Given the description of an element on the screen output the (x, y) to click on. 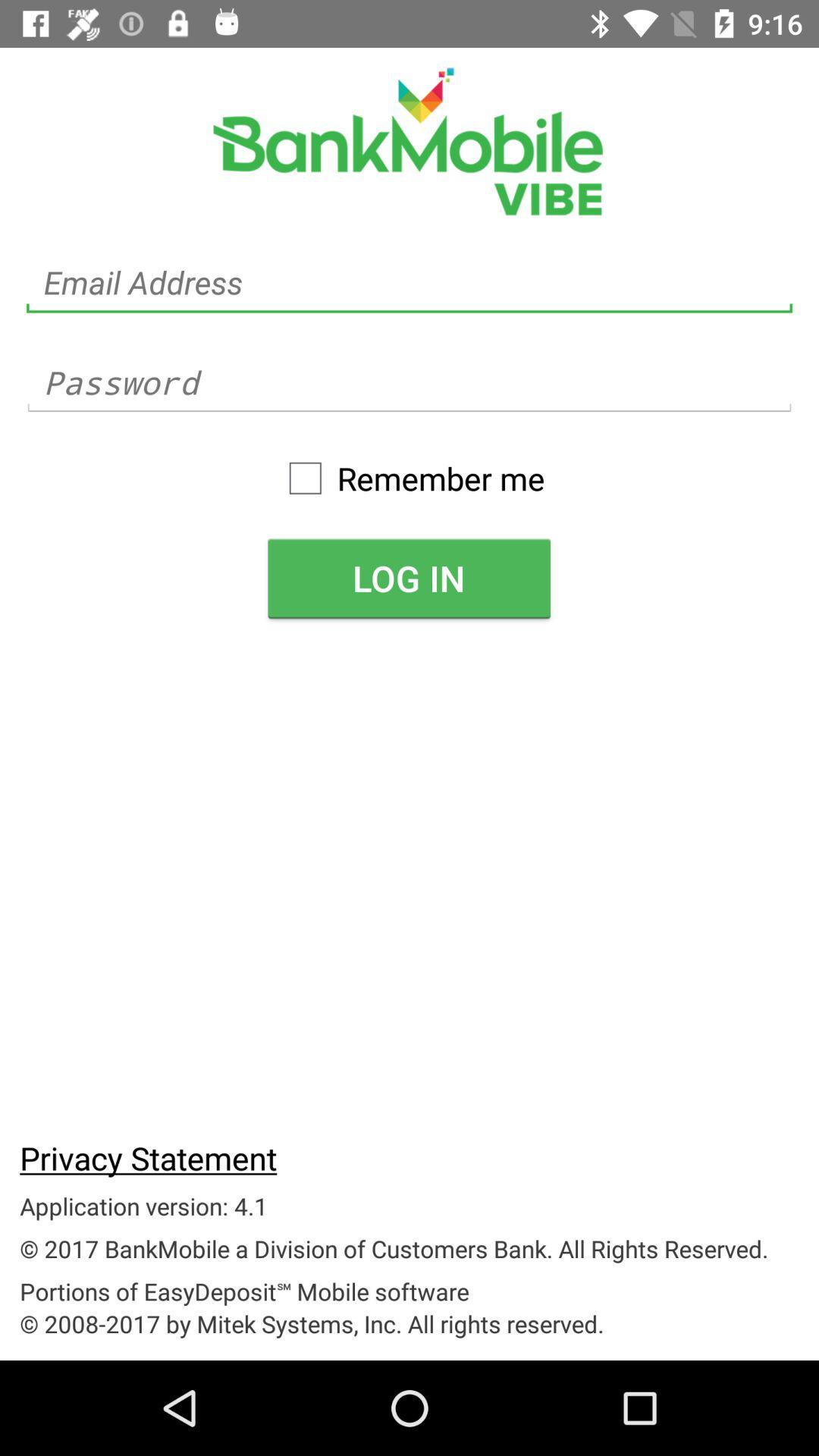
select item at the center (408, 578)
